Given the description of an element on the screen output the (x, y) to click on. 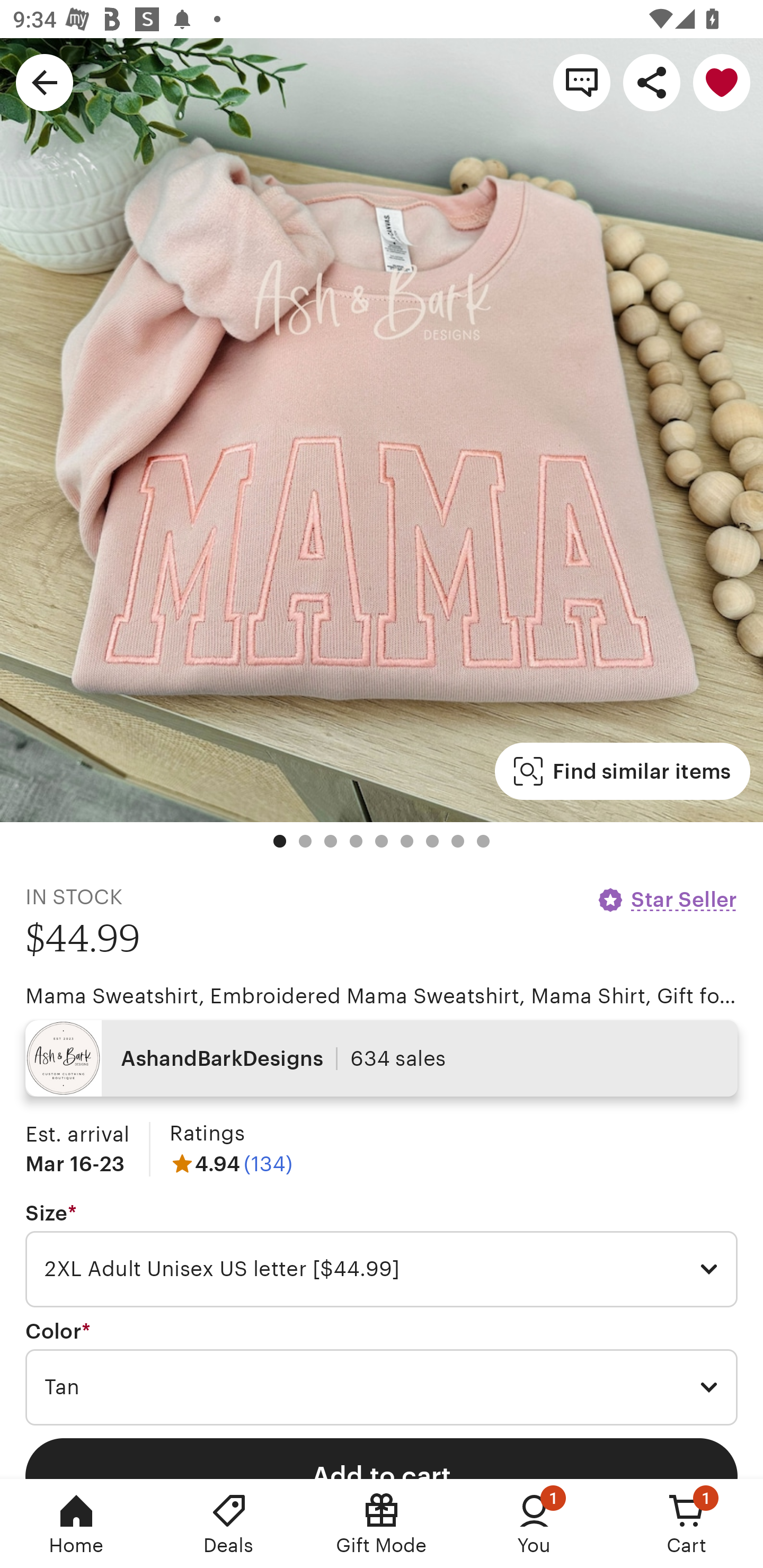
Navigate up (44, 81)
Contact shop (581, 81)
Share (651, 81)
Find similar items (622, 771)
Star Seller (666, 899)
AshandBarkDesigns 634 sales (381, 1058)
Ratings (206, 1133)
4.94 (134) (230, 1163)
2XL Adult Unisex US letter [$44.99] (381, 1268)
Color * Required Tan (381, 1372)
Tan (381, 1386)
Deals (228, 1523)
Gift Mode (381, 1523)
You, 1 new notification You (533, 1523)
Cart, 1 new notification Cart (686, 1523)
